Given the description of an element on the screen output the (x, y) to click on. 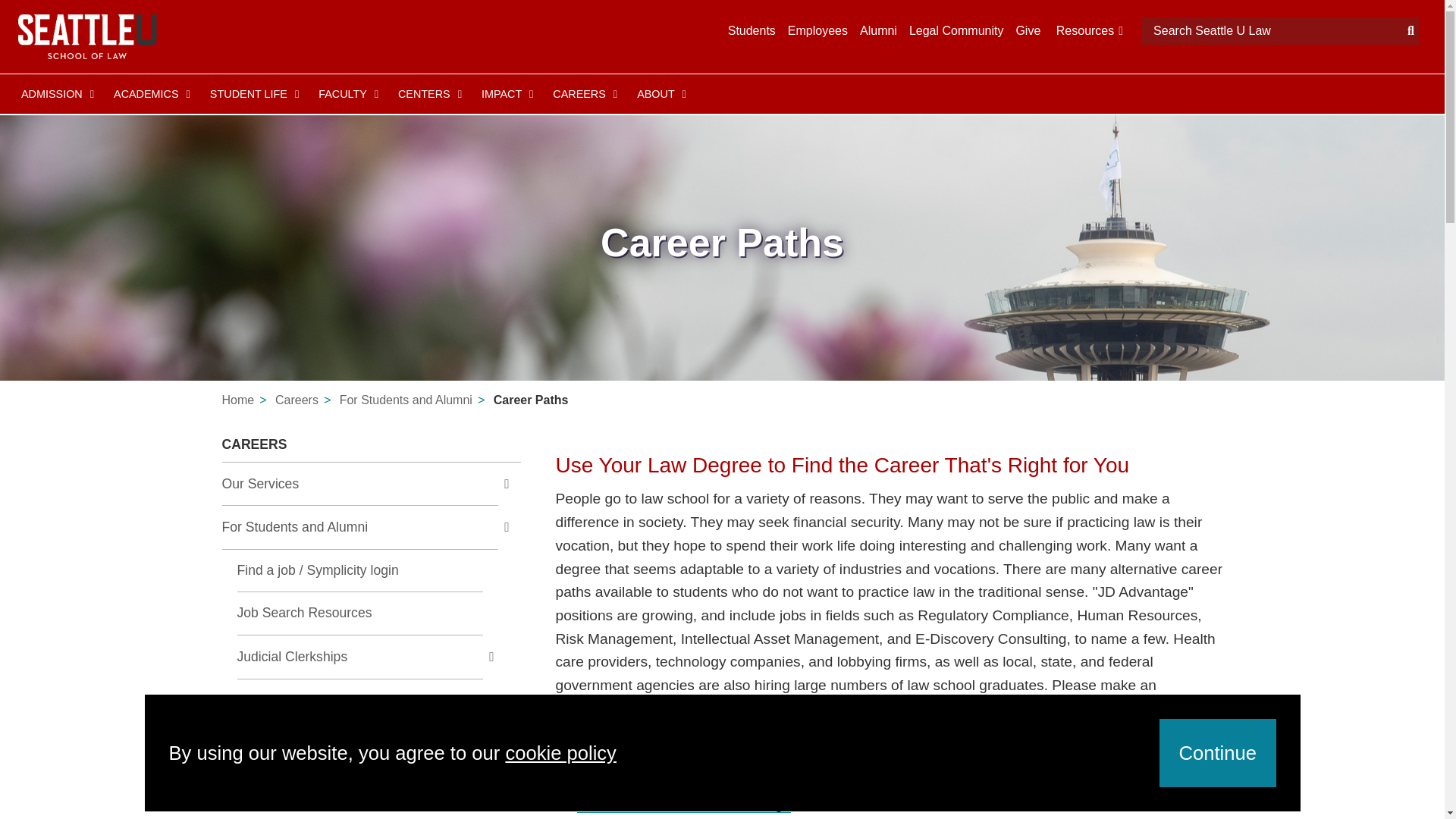
ADMISSION (55, 93)
Give (1027, 30)
Students (752, 30)
School of Law Homepage (237, 399)
nalp.org (694, 780)
nalp.org (683, 804)
Search (1272, 30)
Resources (1087, 30)
School of Law Home (87, 36)
Alumni (878, 30)
Legal Community (956, 30)
Employees (817, 30)
